Given the description of an element on the screen output the (x, y) to click on. 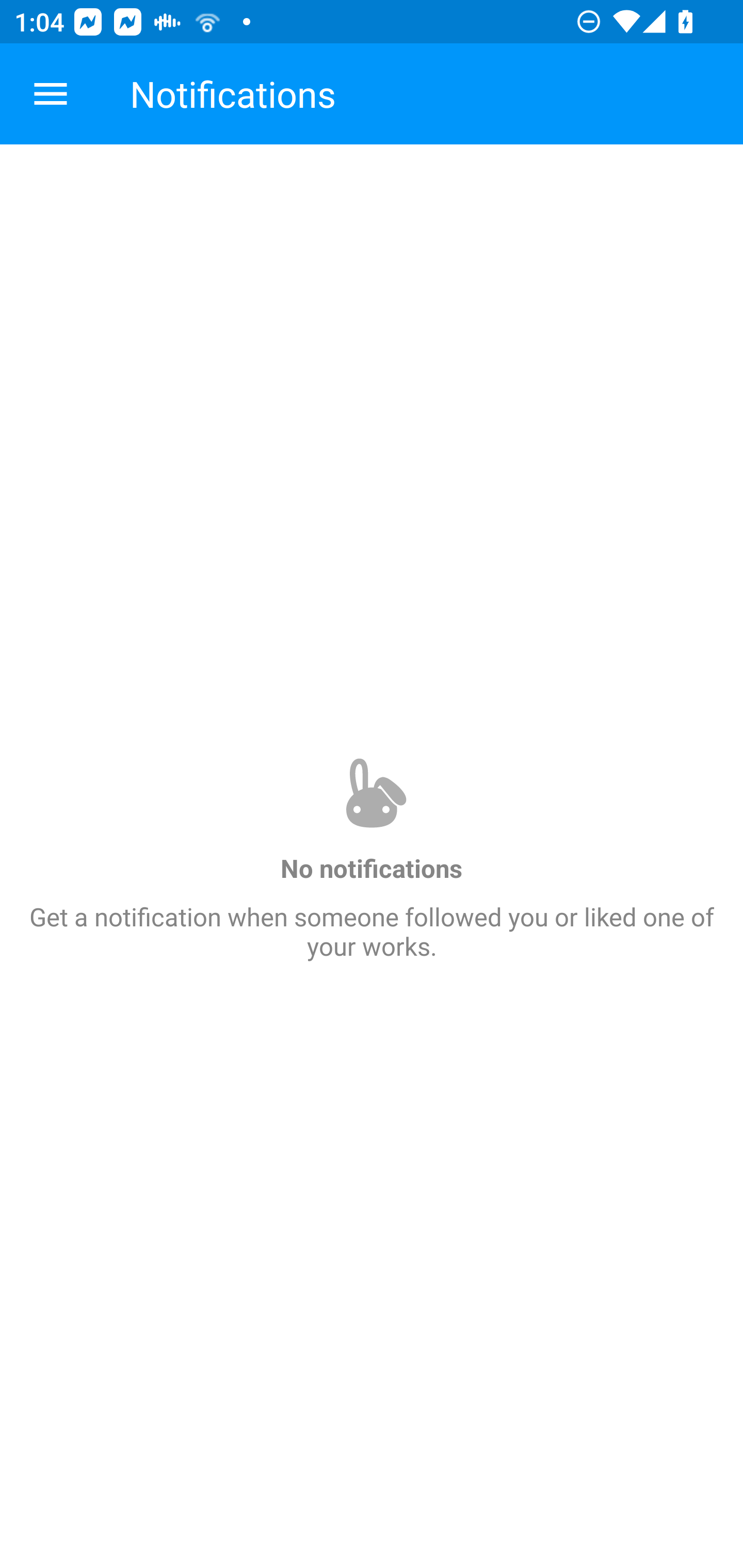
pixiv (50, 93)
